Given the description of an element on the screen output the (x, y) to click on. 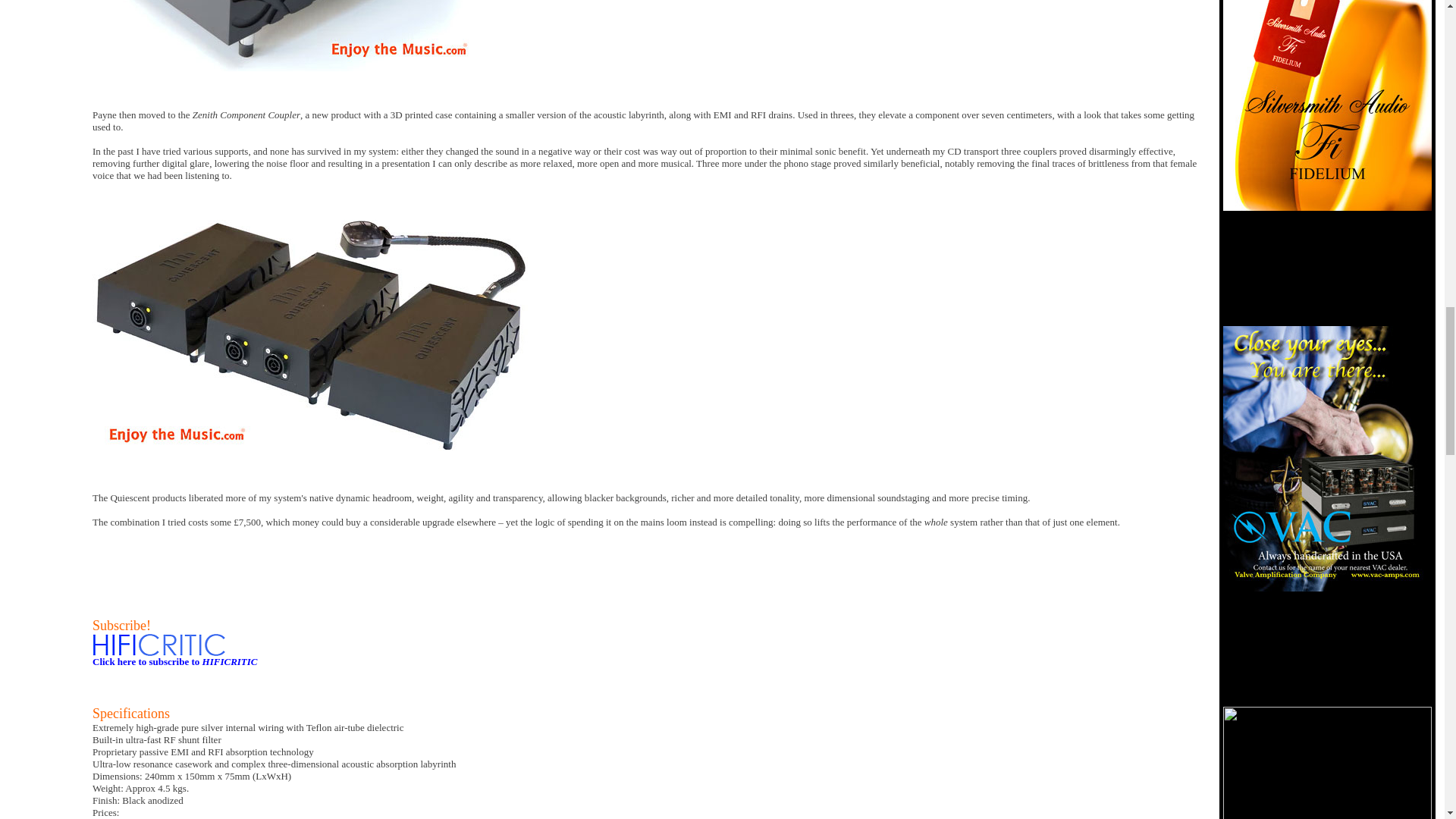
Click here to subscribe to HIFICRITIC (175, 661)
